Given the description of an element on the screen output the (x, y) to click on. 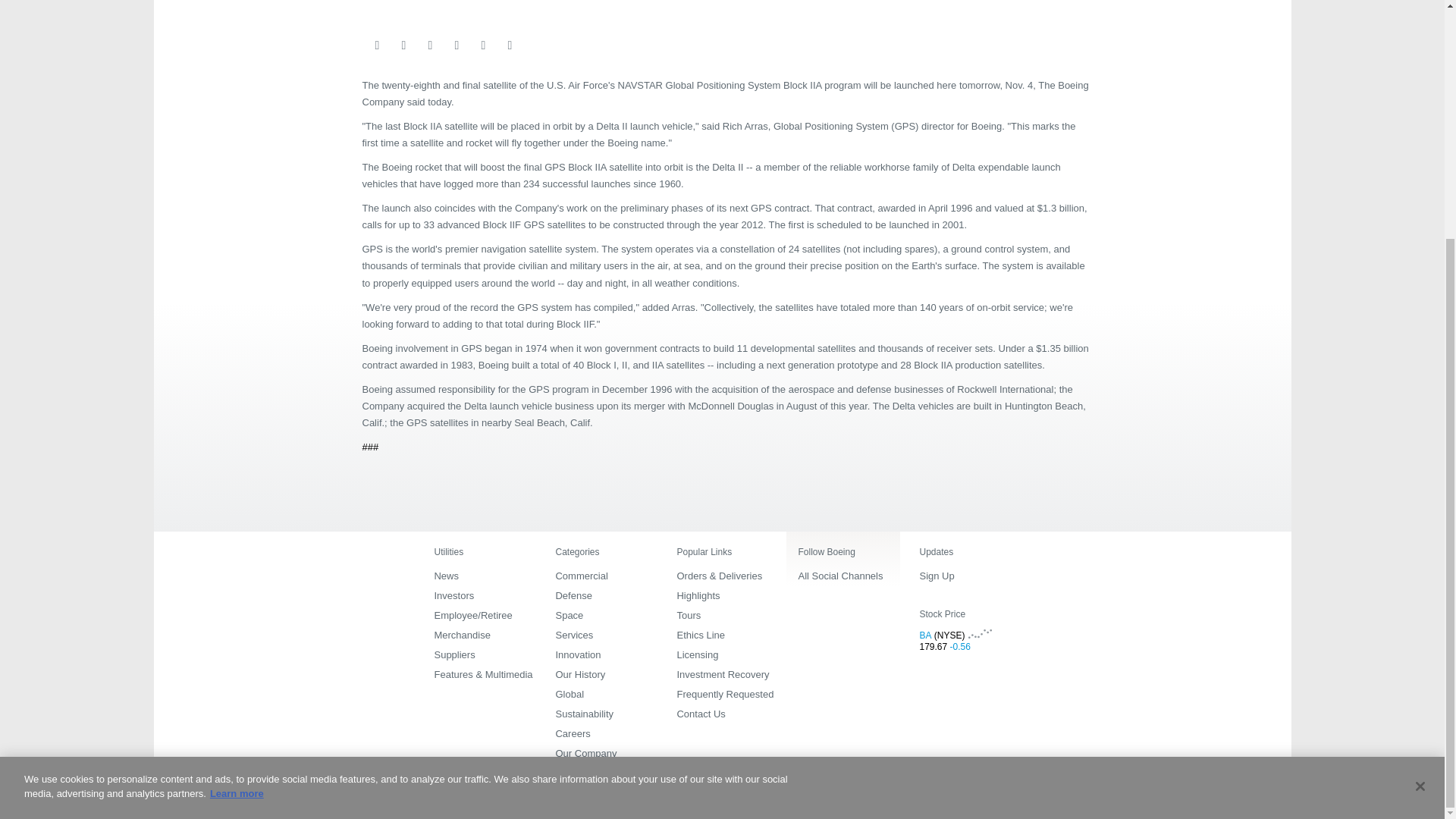
print (483, 45)
pdf (535, 45)
rss (510, 45)
Linkedin Share (430, 45)
email (376, 45)
Twitter Share (456, 45)
Facebook Share (403, 45)
